Given the description of an element on the screen output the (x, y) to click on. 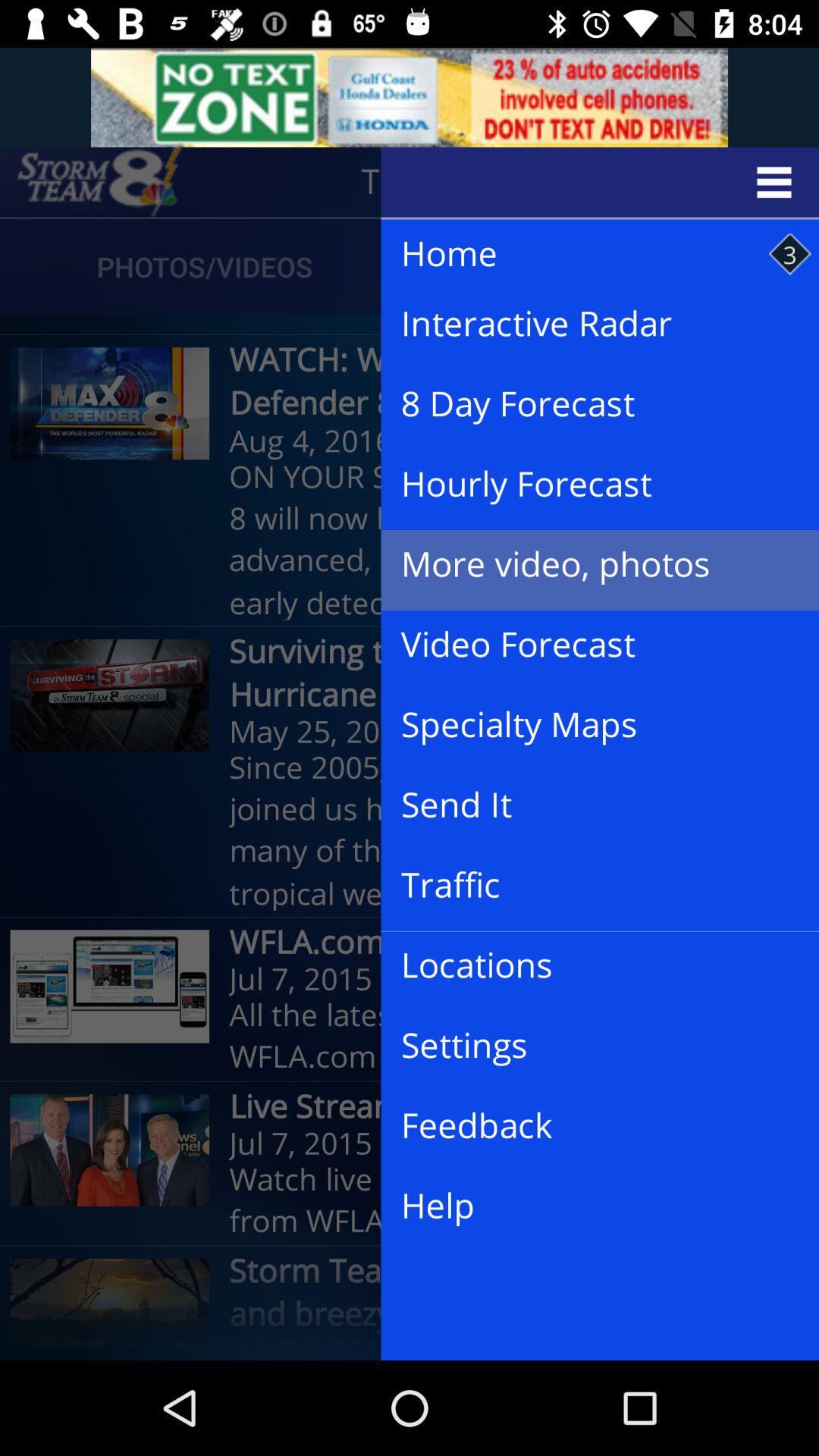
advertisement bar (409, 97)
